Given the description of an element on the screen output the (x, y) to click on. 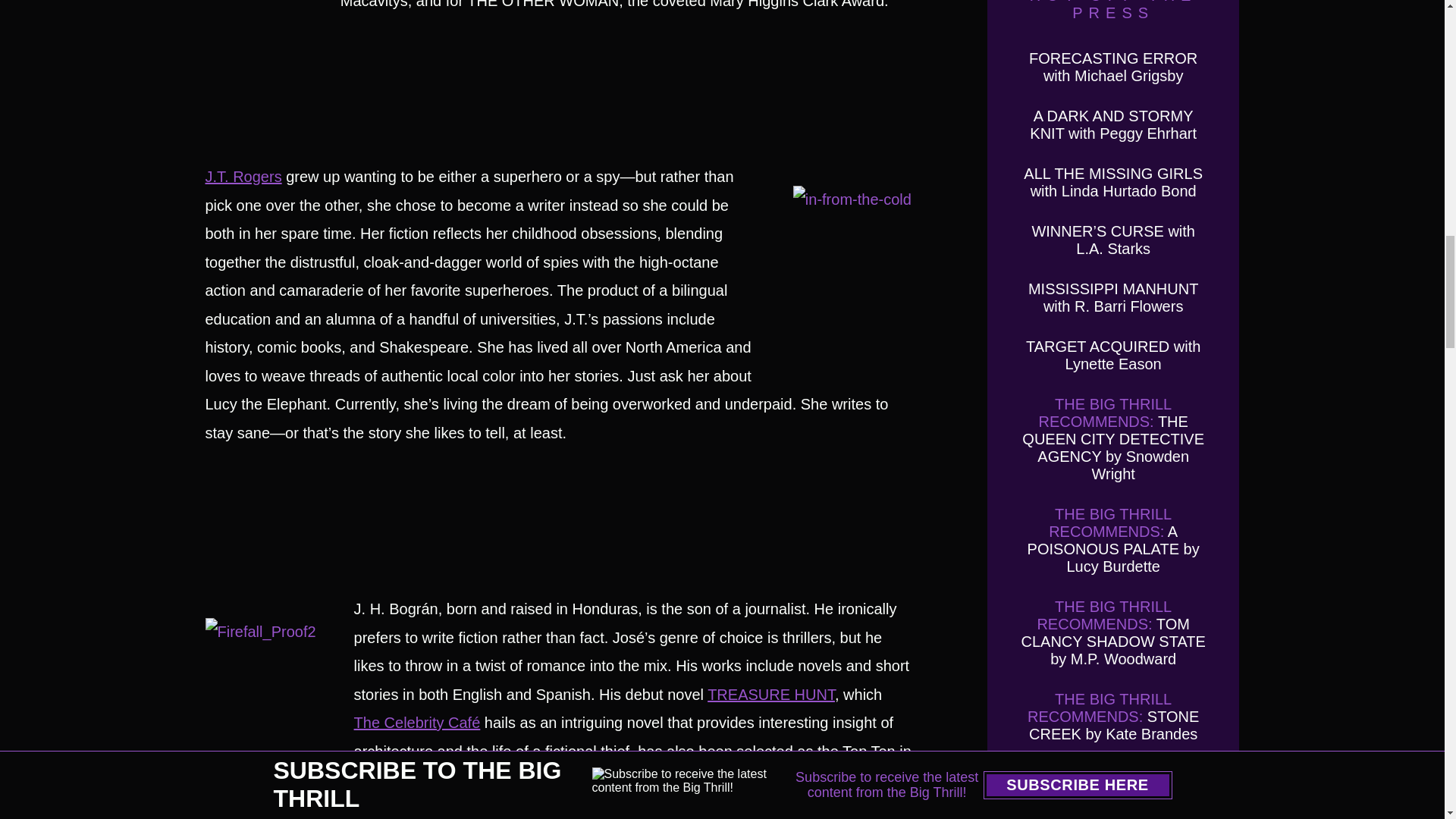
MISSISSIPPI MANHUNT with R. Barri Flowers (1112, 297)
ALL THE MISSING GIRLS with Linda Hurtado Bond (1112, 182)
A DARK AND STORMY KNIT with Peggy Ehrhart (1112, 124)
TARGET ACQUIRED with Lynette Eason (1112, 355)
FORECASTING ERROR with Michael Grigsby (1112, 66)
